Given the description of an element on the screen output the (x, y) to click on. 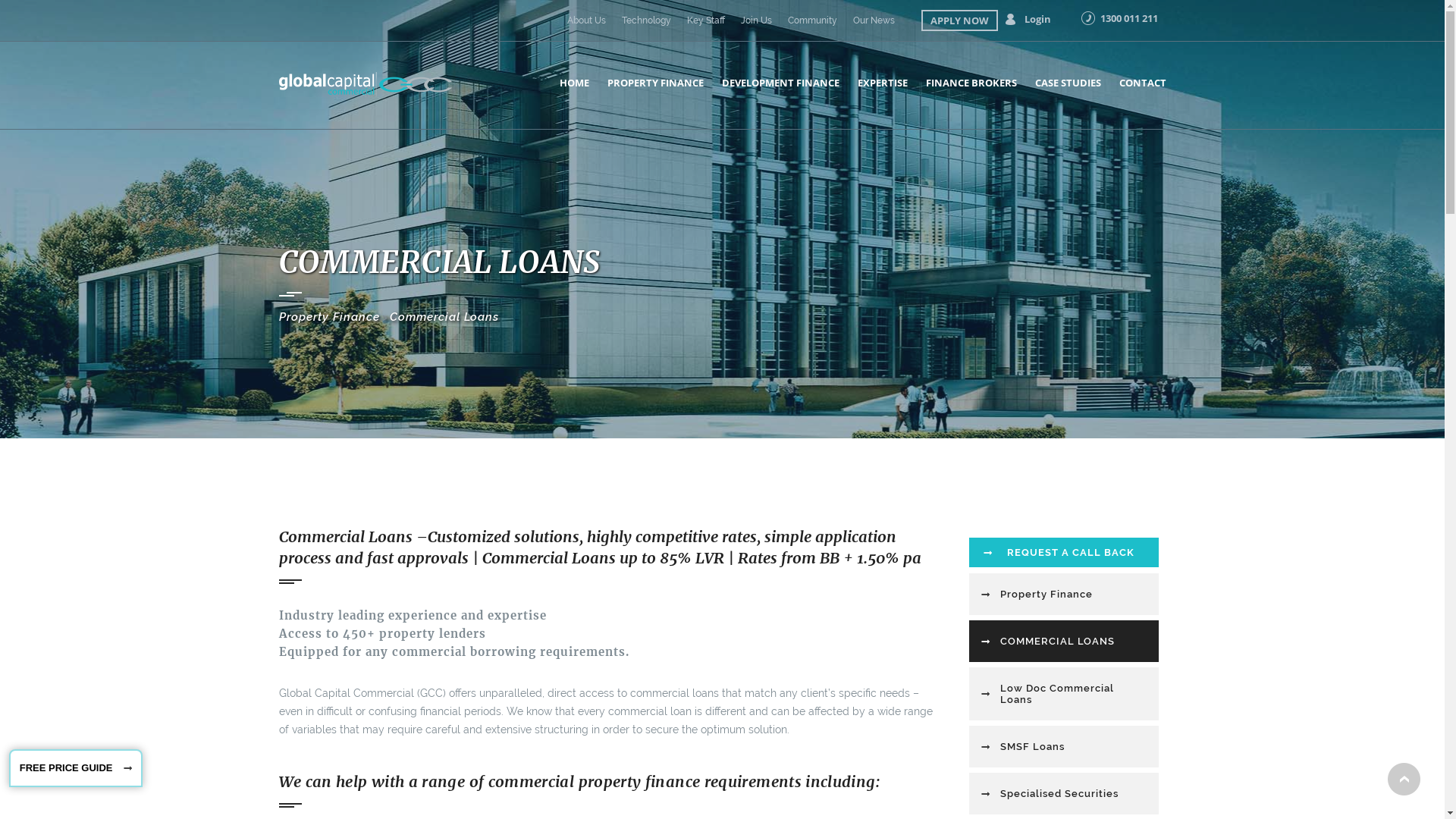
Property Finance Element type: text (1063, 594)
Specialised Securities Element type: text (1063, 793)
Key Staff Element type: text (705, 20)
DEVELOPMENT FINANCE Element type: text (780, 82)
COMMERCIAL LOANS Element type: text (1063, 641)
1300 011 211 Element type: text (1128, 18)
REQUEST A CALL BACK Element type: text (1063, 552)
Login Element type: text (1037, 18)
SMSF Loans Element type: text (1063, 746)
Commercial Loans Element type: text (443, 316)
FREE PRICE GUIDE Element type: text (75, 768)
CONTACT Element type: text (1142, 82)
Community Element type: text (811, 20)
FINANCE BROKERS Element type: text (970, 82)
Join Us Element type: text (755, 20)
About Us Element type: text (586, 20)
CASE STUDIES Element type: text (1067, 82)
APPLY NOW Element type: text (958, 20)
HOME Element type: text (574, 82)
Low Doc Commercial Loans Element type: text (1063, 693)
EXPERTISE Element type: text (881, 82)
Our News Element type: text (873, 20)
Technology Element type: text (646, 20)
Property Finance Element type: text (329, 316)
Logo Element type: hover (365, 84)
PROPERTY FINANCE Element type: text (654, 82)
